Given the description of an element on the screen output the (x, y) to click on. 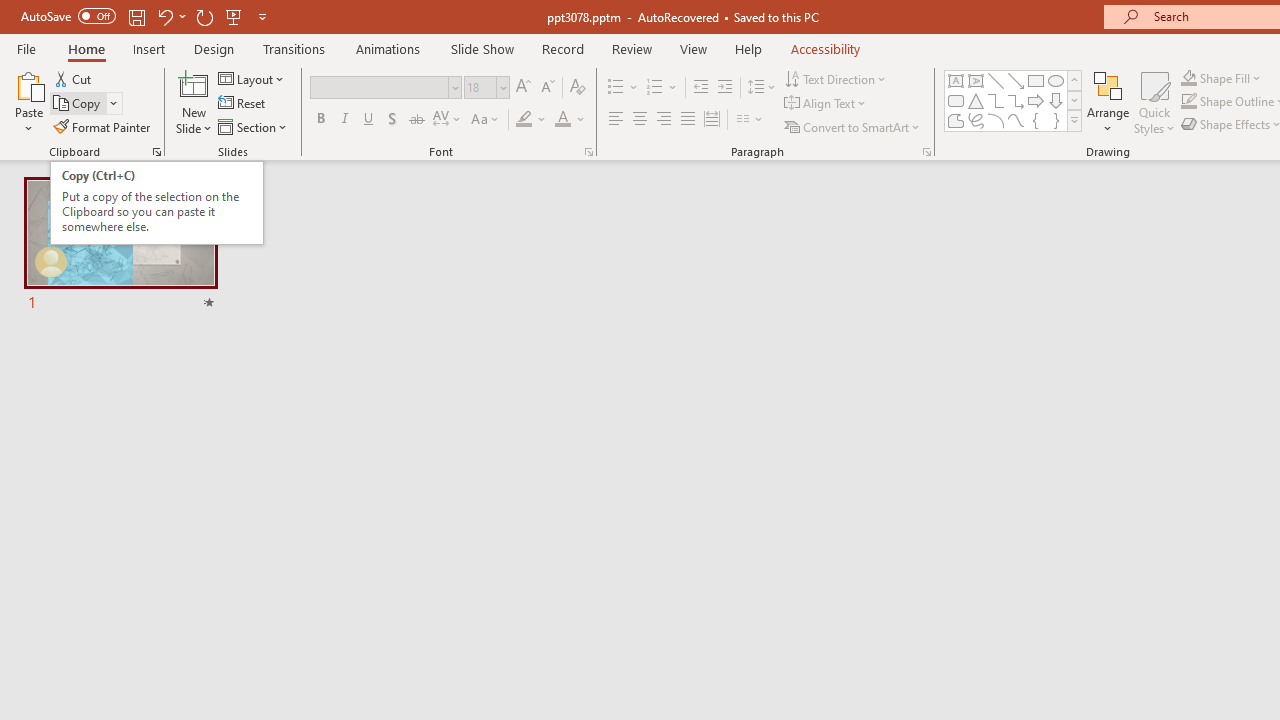
Animations (388, 48)
Change Case (486, 119)
Customize Quick Access Toolbar (262, 15)
File Tab (26, 48)
Shadow (392, 119)
Justify (687, 119)
Accessibility (825, 48)
Row Down (1074, 100)
Copy (85, 103)
Open (502, 87)
Layout (252, 78)
Distributed (712, 119)
Connector: Elbow Arrow (1016, 100)
Arc (995, 120)
Font (385, 87)
